Given the description of an element on the screen output the (x, y) to click on. 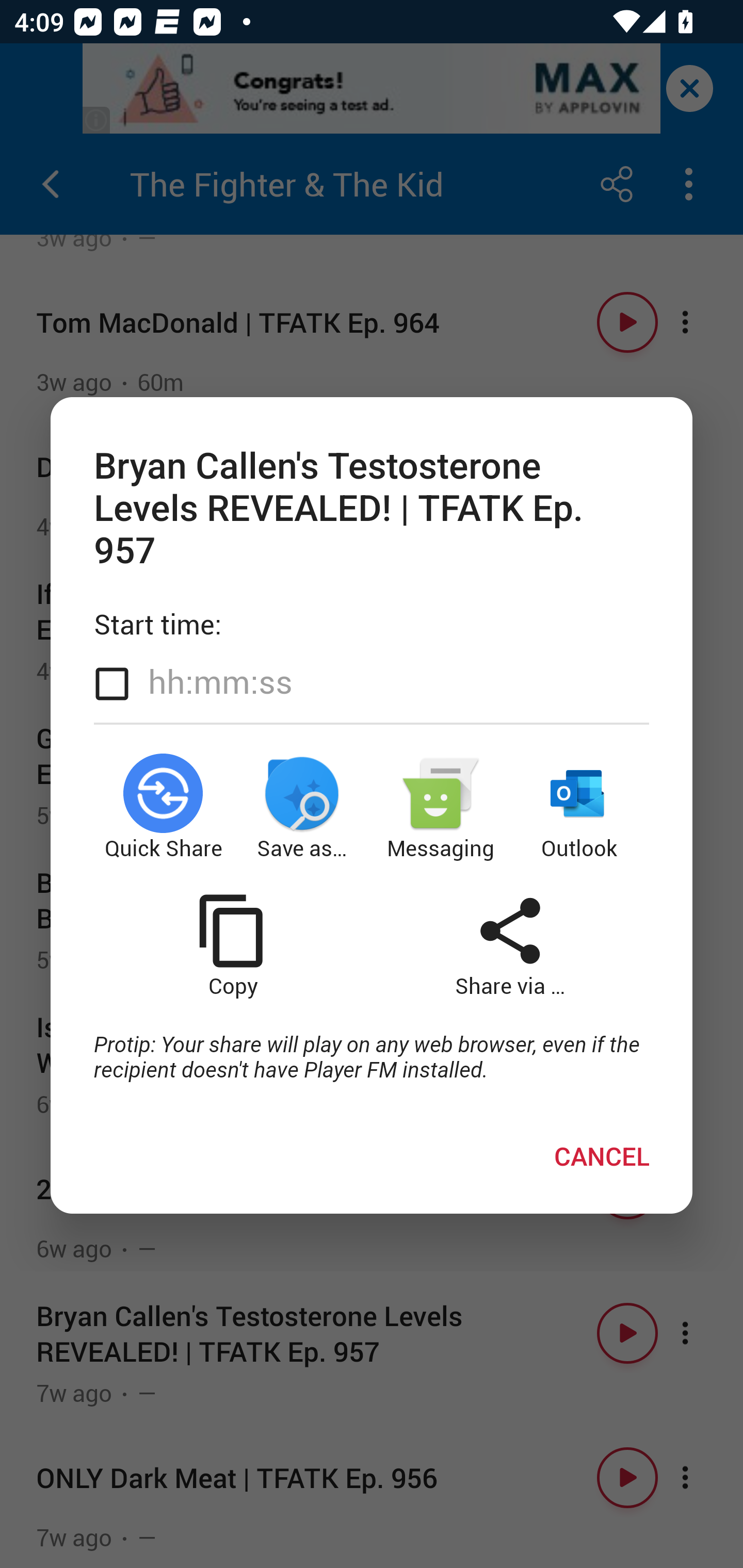
hh:mm:ss (220, 681)
Quick Share (163, 808)
Save as… (301, 808)
Messaging (440, 808)
Outlook (579, 808)
Copy (232, 945)
Share via … (509, 945)
CANCEL (600, 1156)
